Given the description of an element on the screen output the (x, y) to click on. 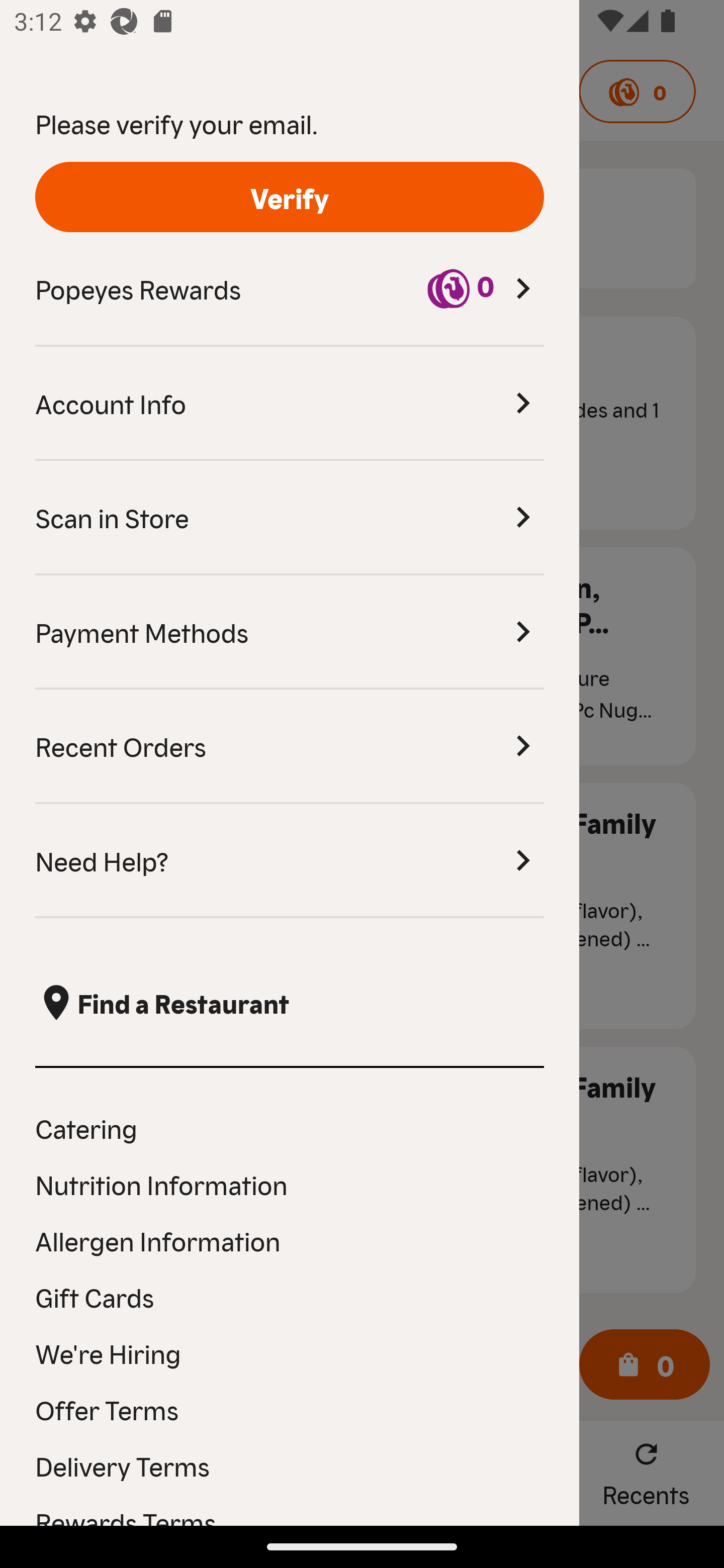
Verify (289, 196)
Account Info Account Info  (289, 403)
Scan in Store Scan in Store  (289, 517)
Payment Methods Payment Methods  (289, 632)
Recent Orders Recent Orders  (289, 746)
Need Help? Need Help?  (289, 861)
, Find a Restaurant  Find a Restaurant (289, 1002)
Catering (289, 1127)
Nutrition Information (289, 1183)
Allergen Information (289, 1240)
Gift Cards (289, 1296)
We're Hiring (289, 1352)
Offer Terms (289, 1409)
Delivery Terms (289, 1465)
